Given the description of an element on the screen output the (x, y) to click on. 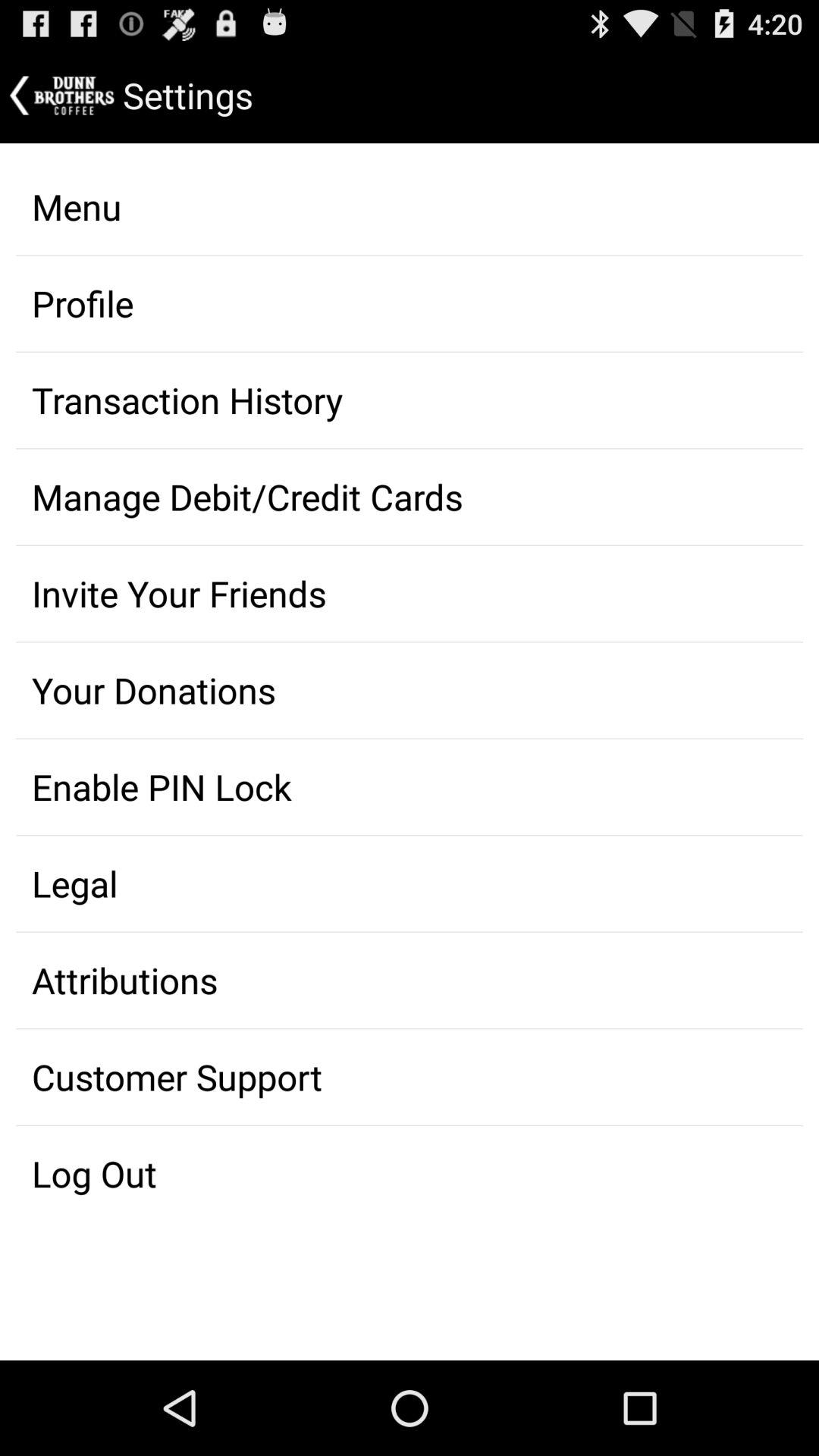
press the icon below legal icon (409, 980)
